Given the description of an element on the screen output the (x, y) to click on. 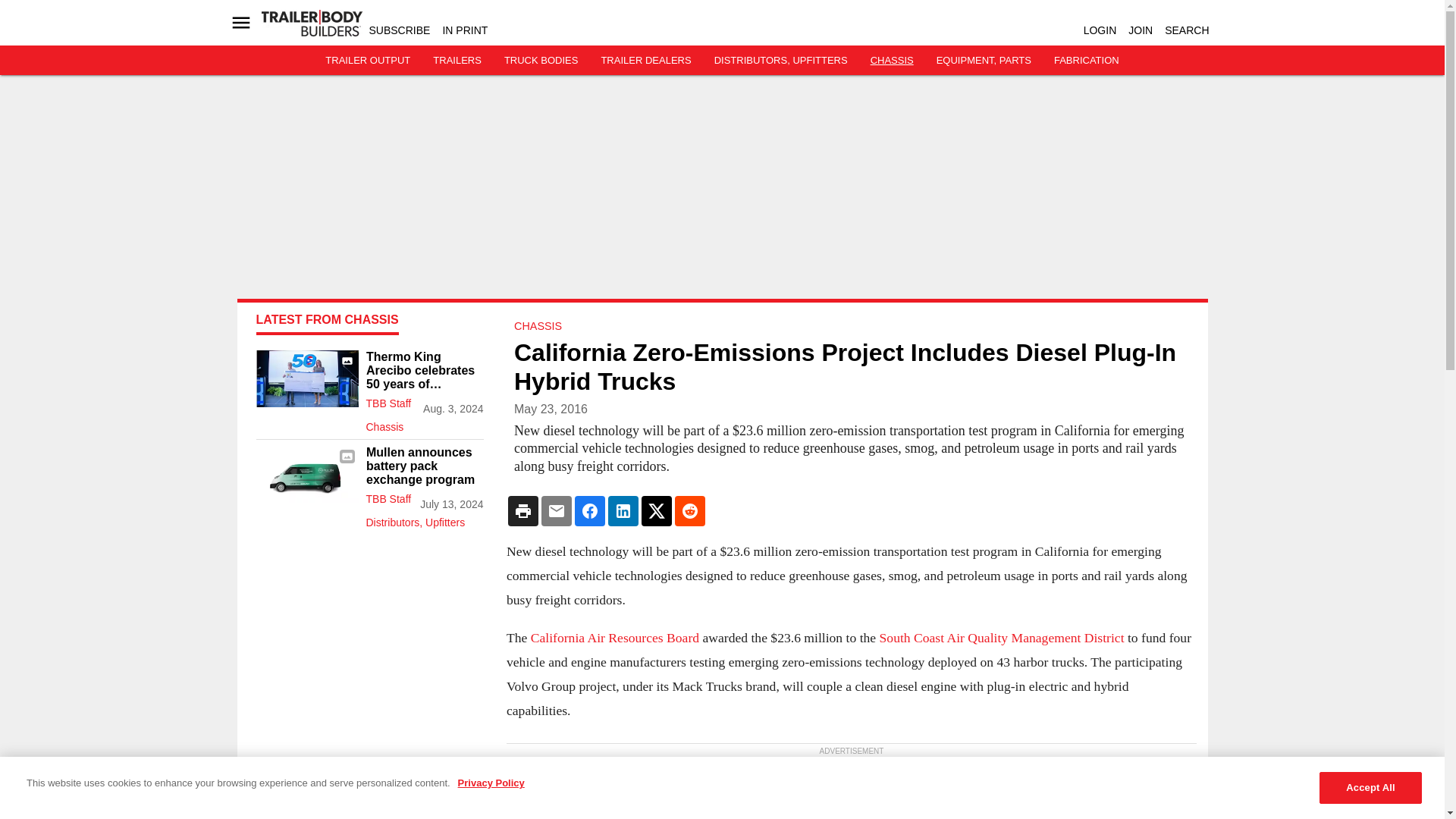
SEARCH (1186, 30)
3rd party ad content (369, 649)
Thermo King Arecibo celebrates 50 years of manufacturing (424, 370)
TRAILERS (456, 60)
Chassis (424, 423)
EQUIPMENT, PARTS (983, 60)
IN PRINT (464, 30)
CHASSIS (892, 60)
DISTRIBUTORS, UPFITTERS (780, 60)
